Given the description of an element on the screen output the (x, y) to click on. 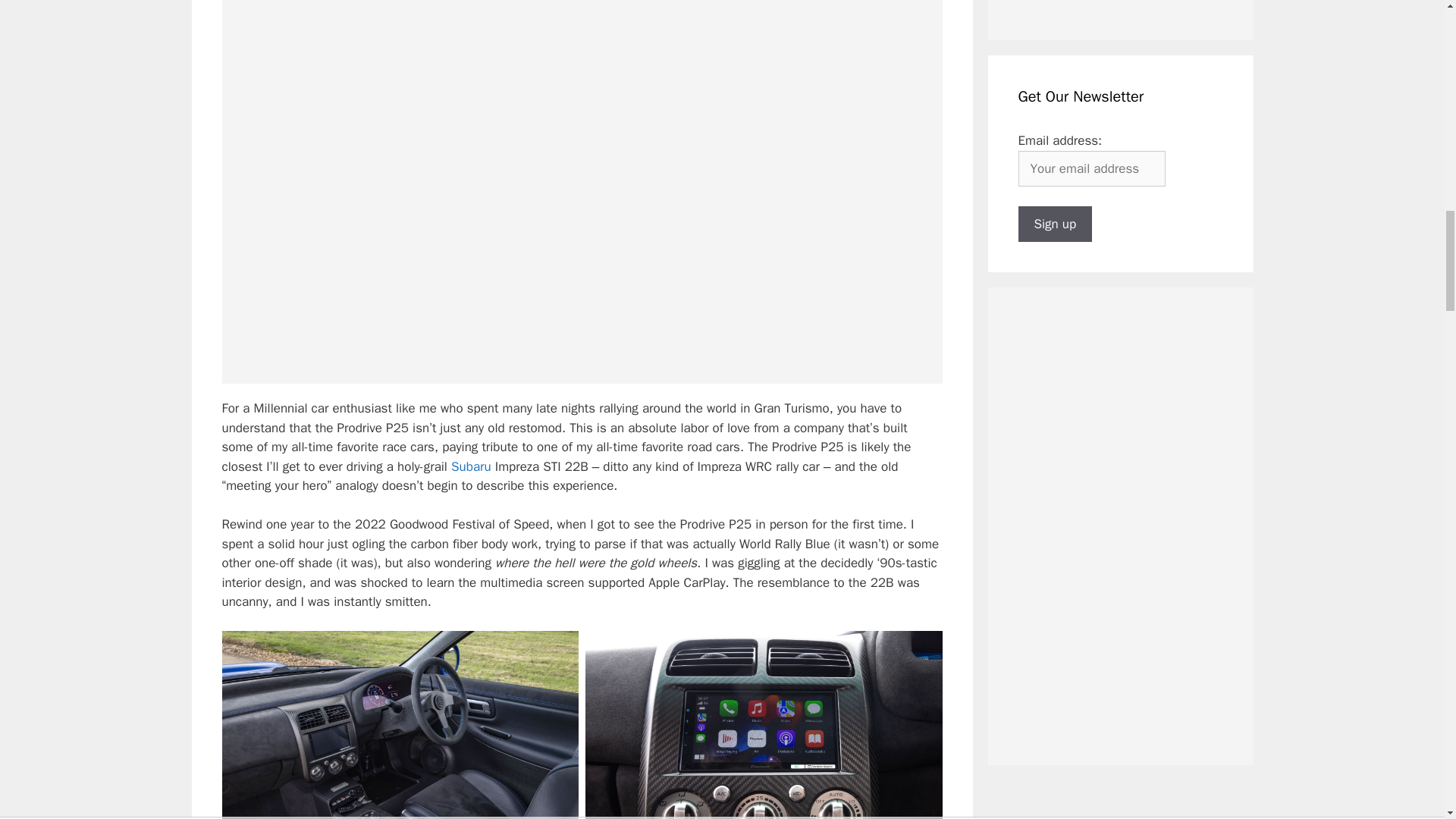
Subaru (471, 466)
Sign up (1054, 224)
Sign up (1054, 224)
